Given the description of an element on the screen output the (x, y) to click on. 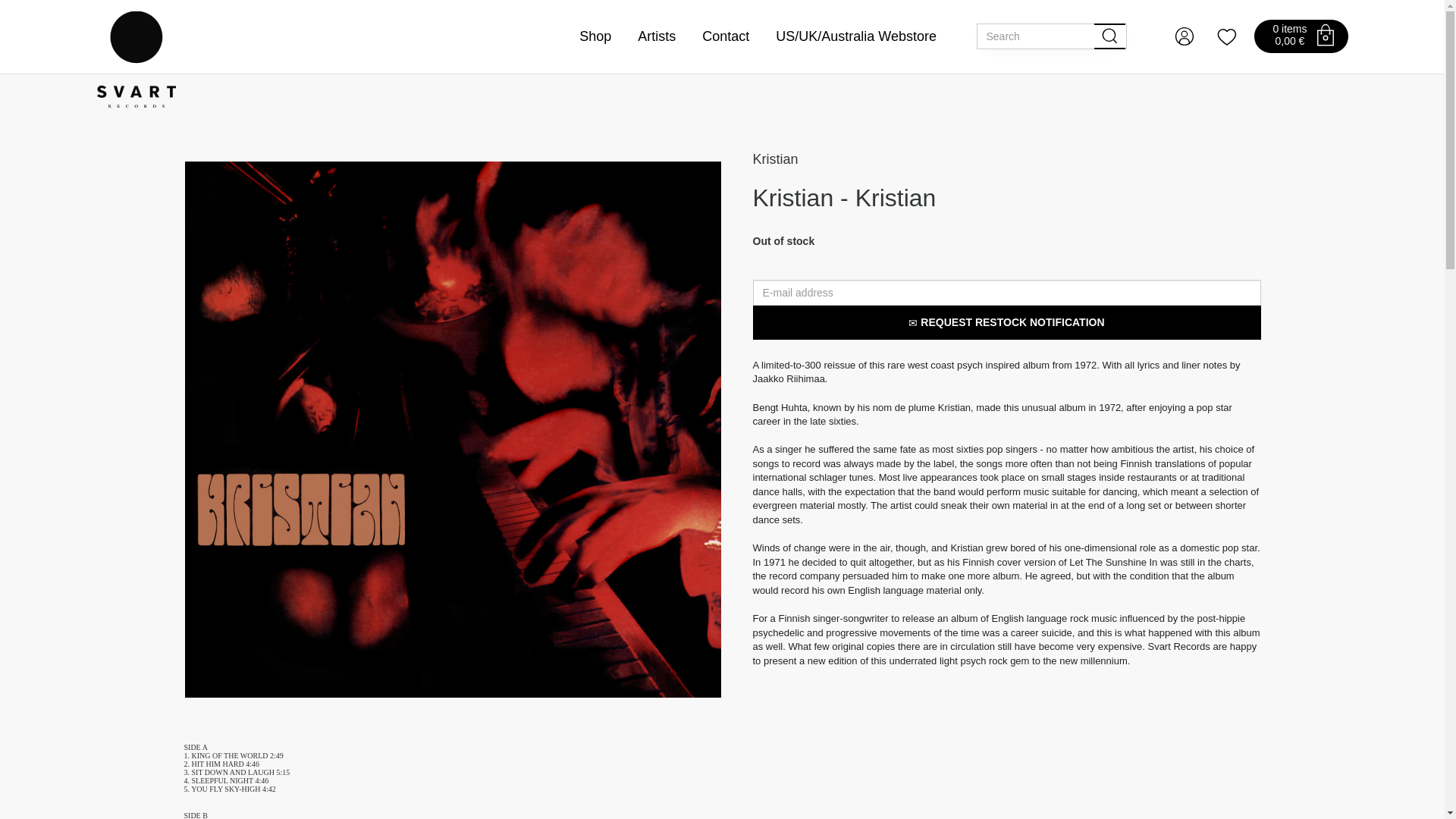
search (1109, 36)
Artists (656, 36)
Shop (595, 36)
logo (136, 59)
Log in (1184, 36)
Contact (725, 36)
wishlist (1226, 36)
cart (1325, 34)
